Given the description of an element on the screen output the (x, y) to click on. 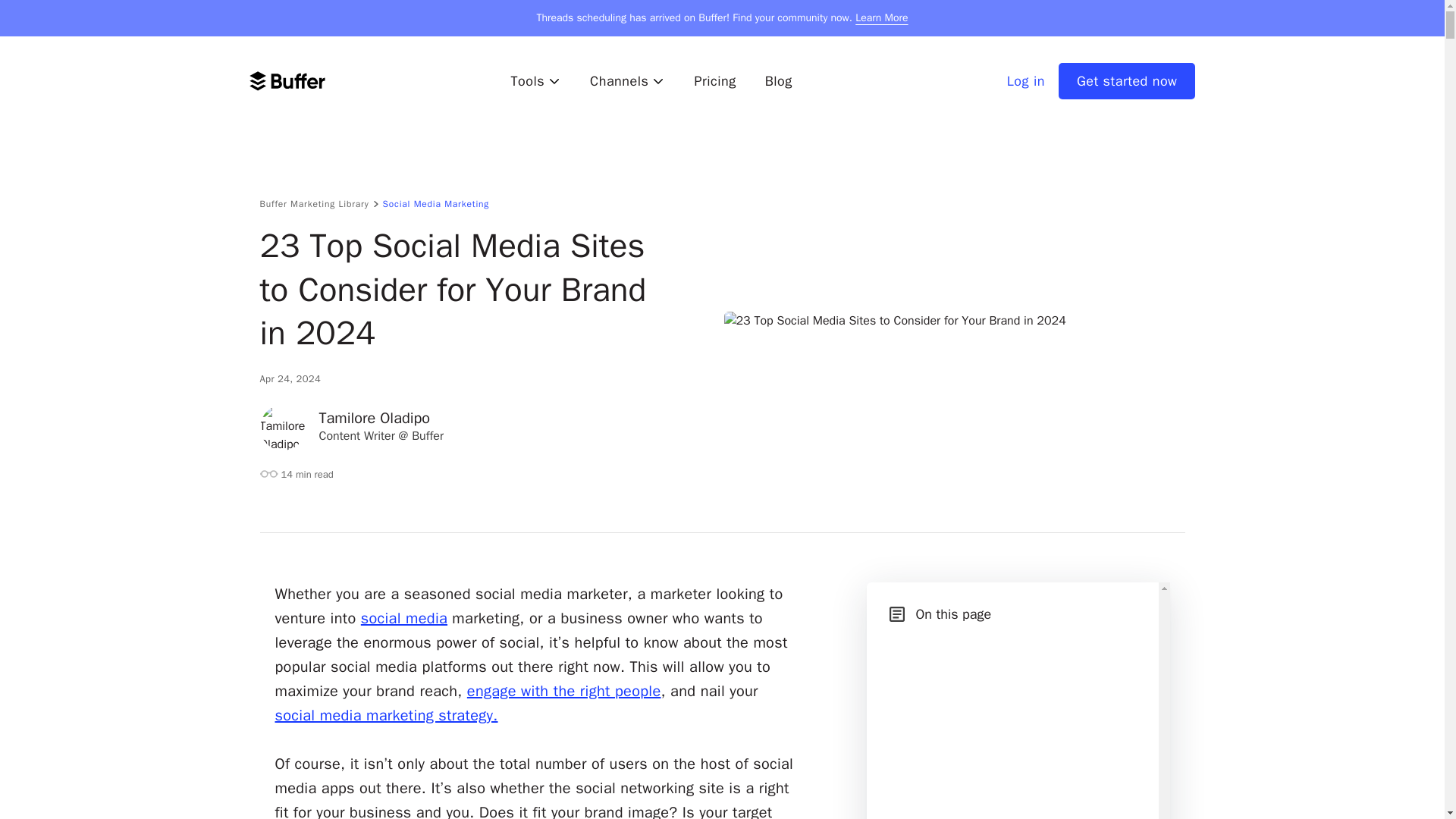
Log in (1026, 81)
Get started now (1126, 81)
Pricing (714, 80)
Learn More (881, 17)
Channels (627, 80)
Blog (777, 80)
Tools (535, 80)
